Given the description of an element on the screen output the (x, y) to click on. 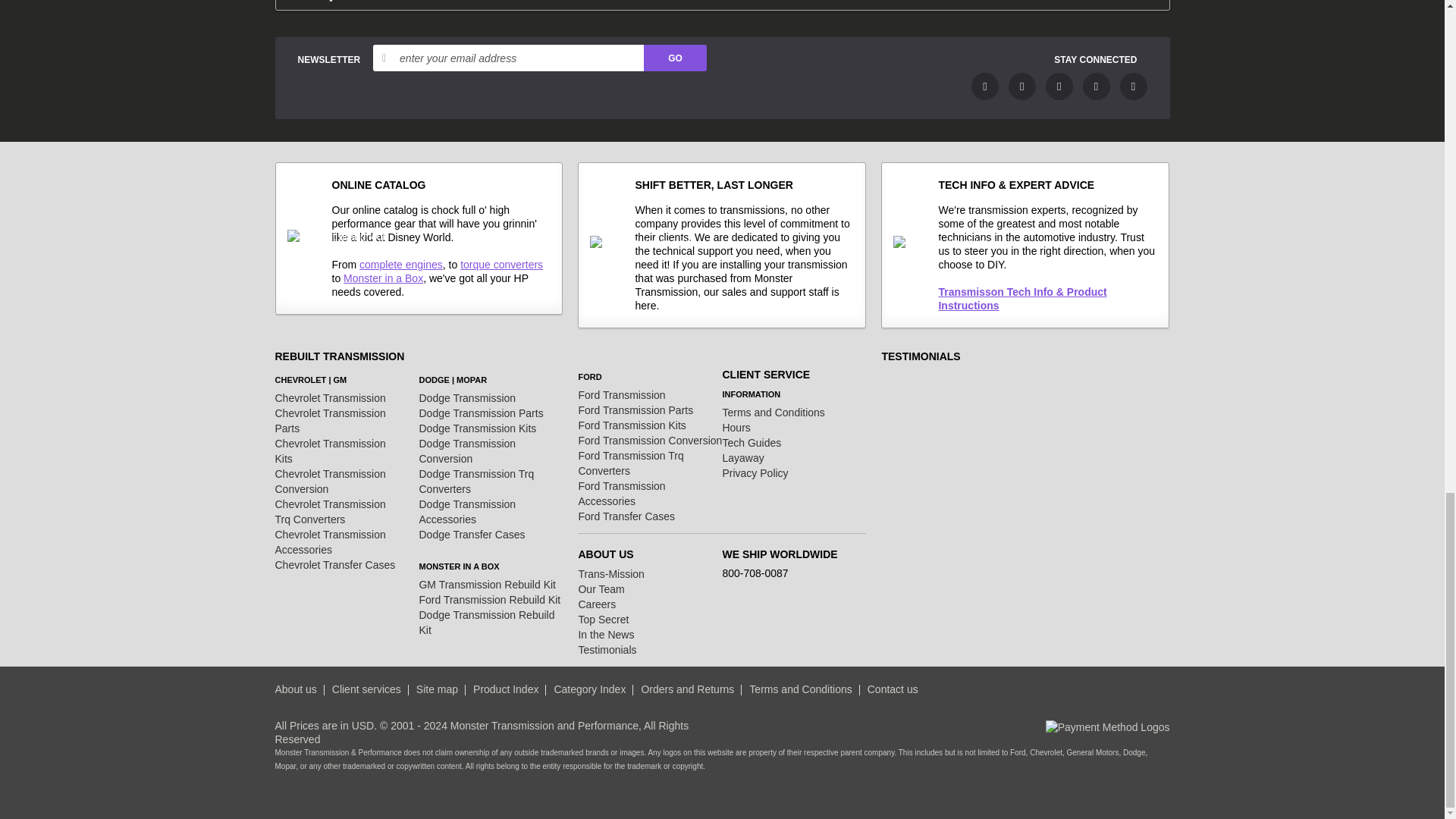
Like Us on Facebook (984, 85)
Follow Us on Twitter (1022, 85)
Subscribe to Our Channel (1059, 85)
Follow Us on Instagram (1133, 85)
Follow Us on Pinterest (1096, 85)
GO (674, 58)
